Given the description of an element on the screen output the (x, y) to click on. 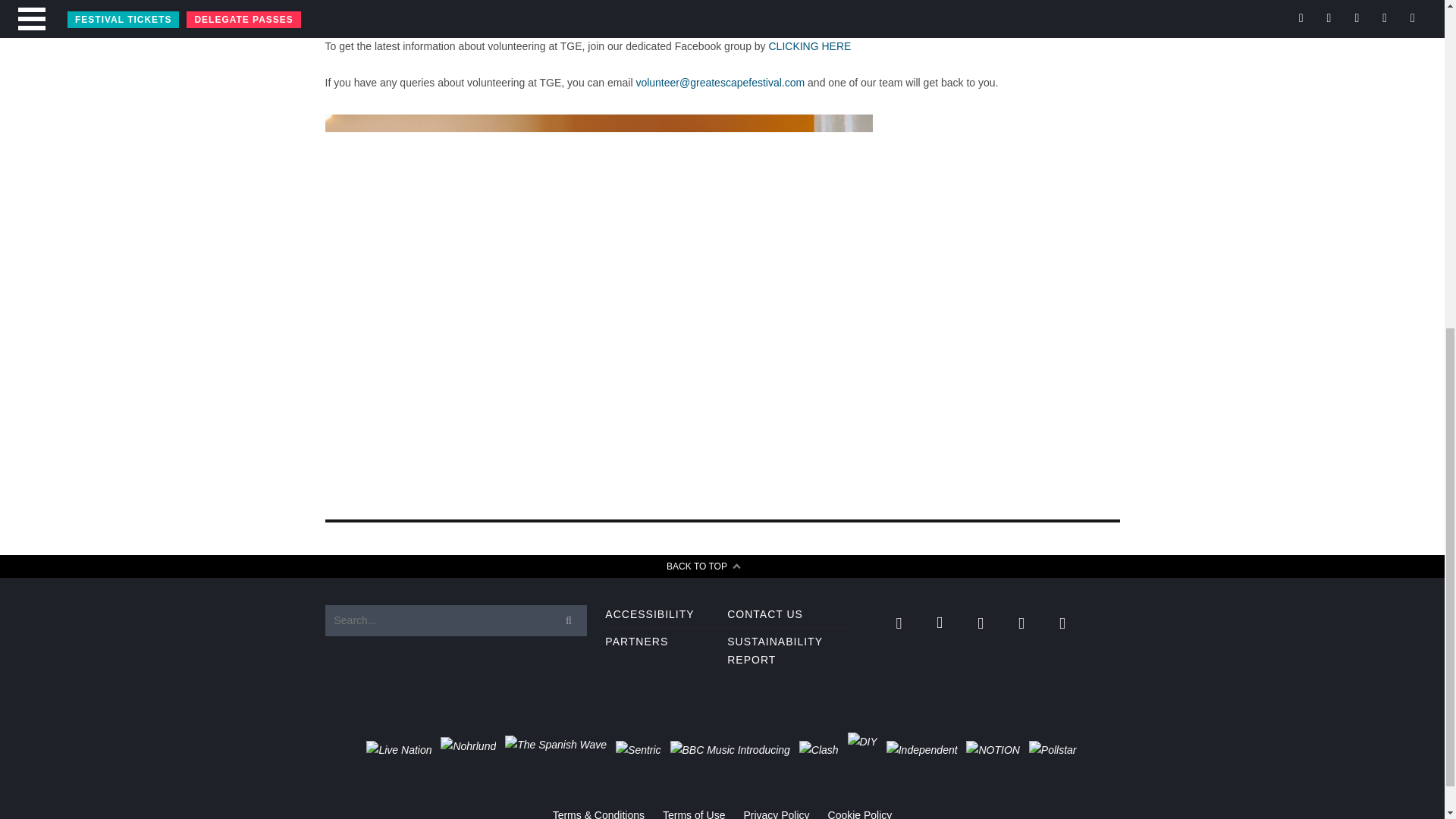
Sentric (638, 750)
BBC Music Introducing (729, 750)
DIY (862, 750)
Clash (818, 750)
The Spanish Wave (556, 750)
NOTION (992, 750)
Live Nation (398, 750)
Independent (922, 750)
Nohrlund (468, 750)
Pollstar (1053, 750)
